Given the description of an element on the screen output the (x, y) to click on. 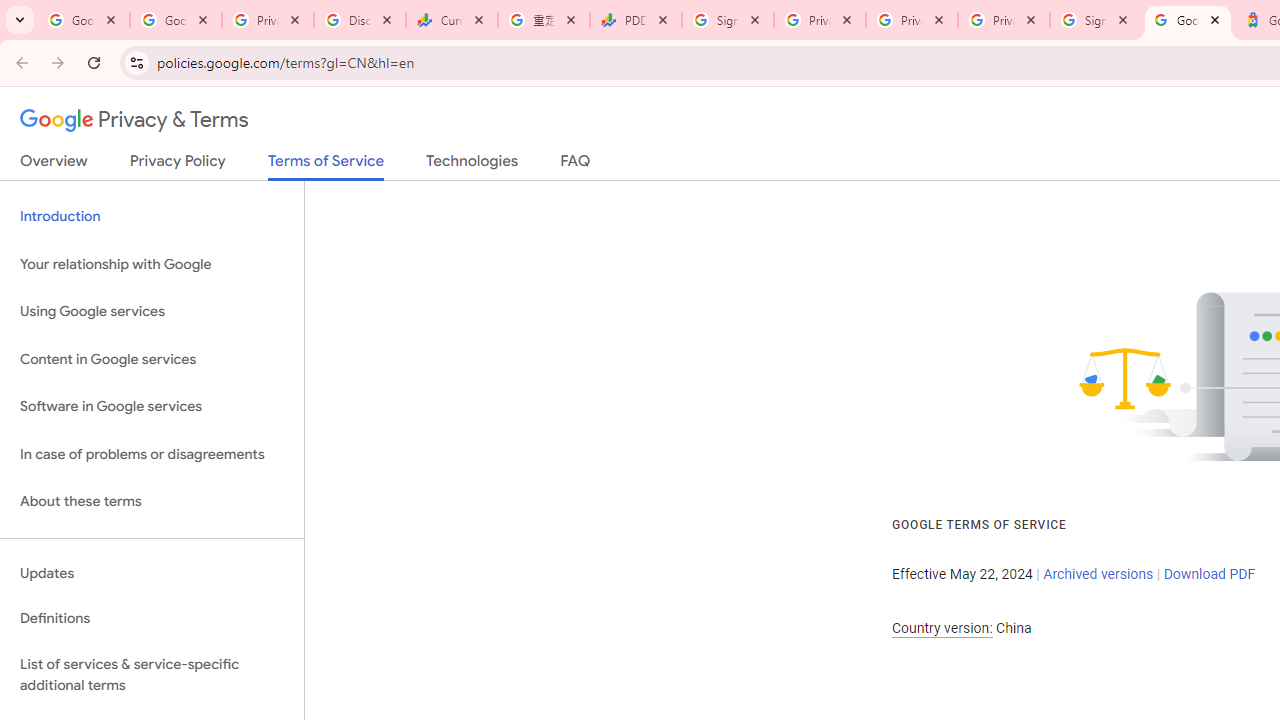
List of services & service-specific additional terms (152, 674)
Definitions (152, 619)
Sign in - Google Accounts (1095, 20)
